Given the description of an element on the screen output the (x, y) to click on. 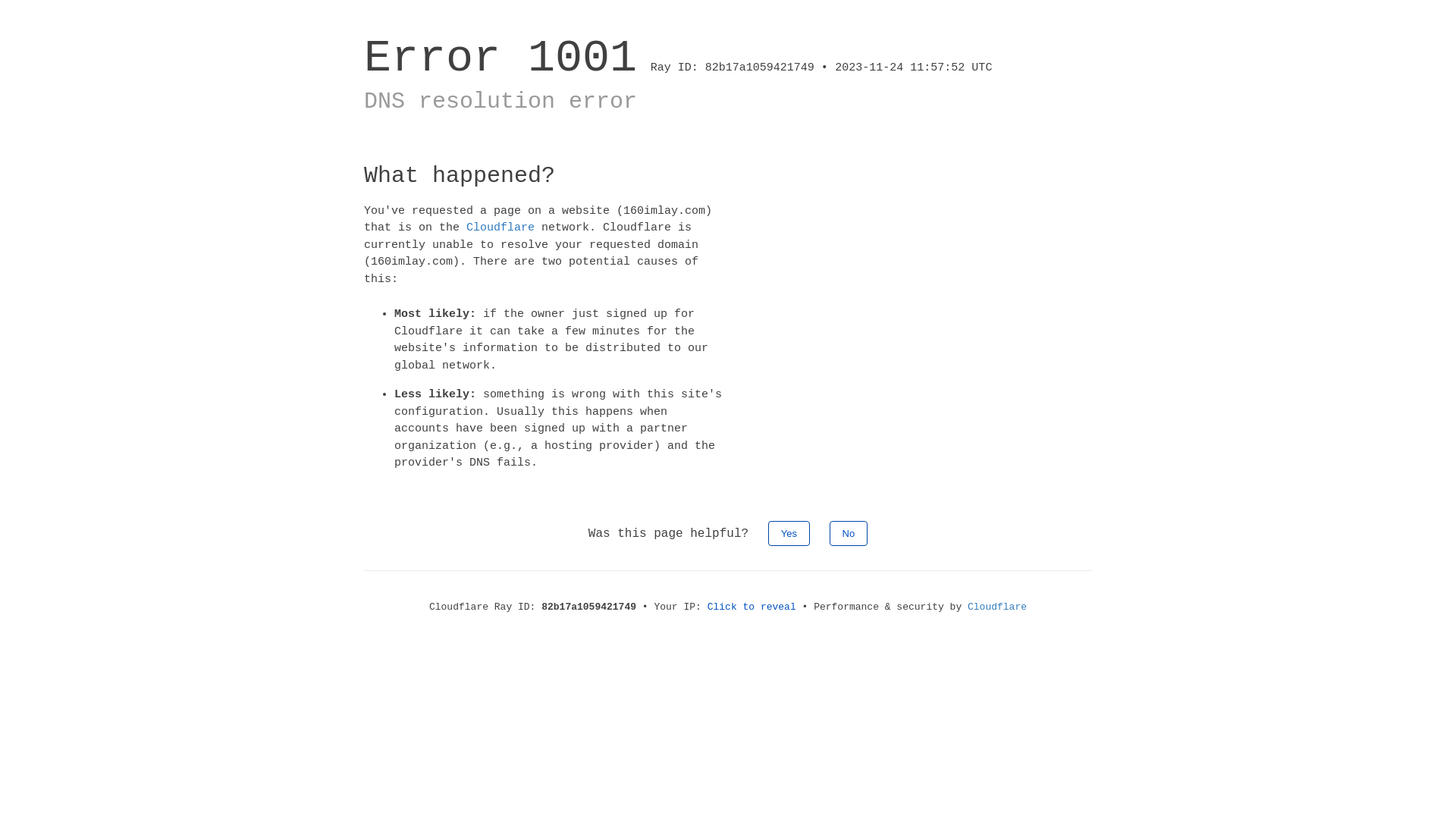
No Element type: text (848, 532)
Yes Element type: text (788, 532)
Click to reveal Element type: text (751, 605)
Cloudflare Element type: text (996, 605)
Cloudflare Element type: text (500, 227)
